Given the description of an element on the screen output the (x, y) to click on. 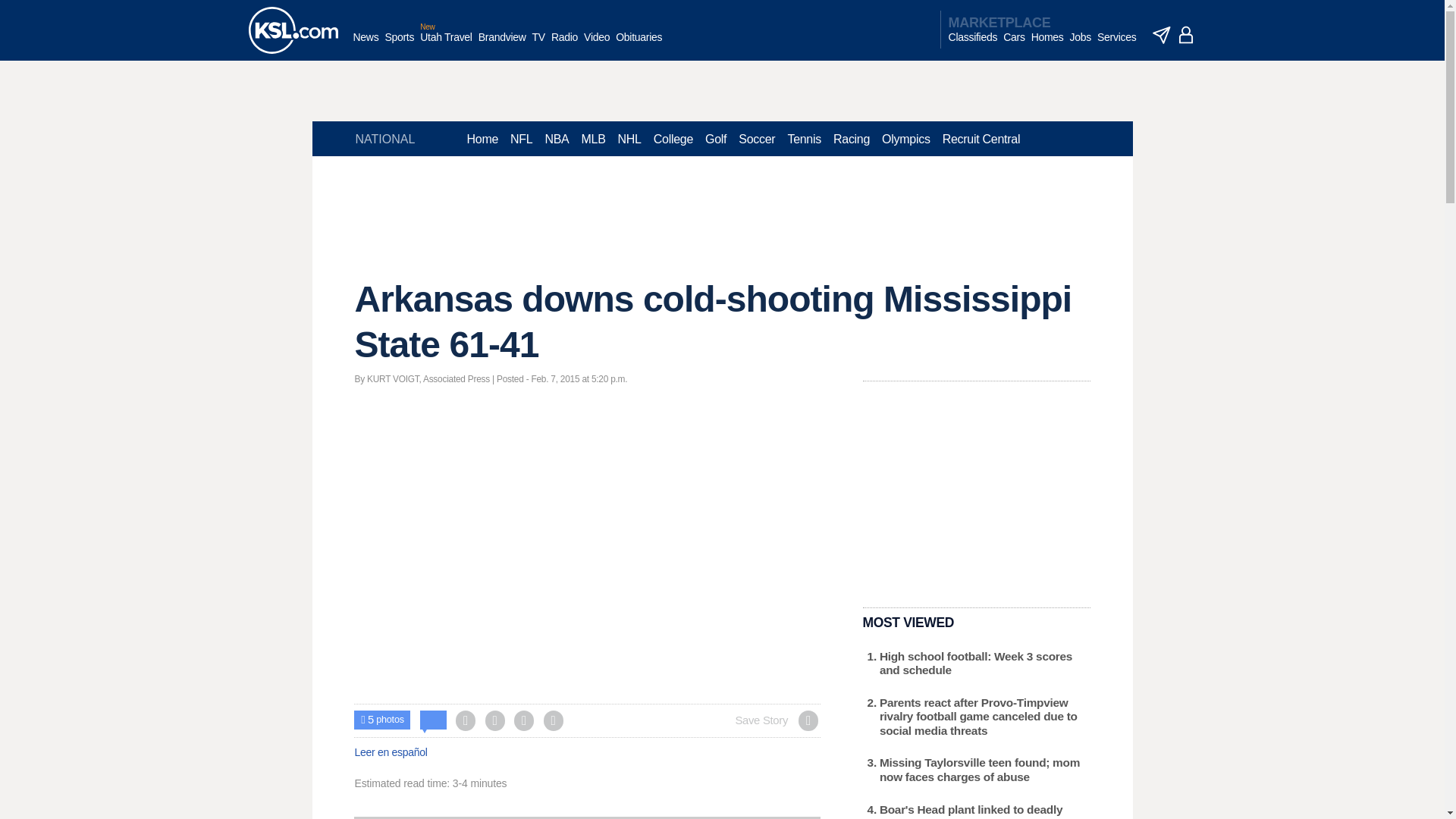
Utah Travel (445, 45)
KSL homepage (292, 29)
Sports (398, 45)
Brandview (502, 45)
KSL homepage (292, 30)
account - logged out (1185, 34)
